Given the description of an element on the screen output the (x, y) to click on. 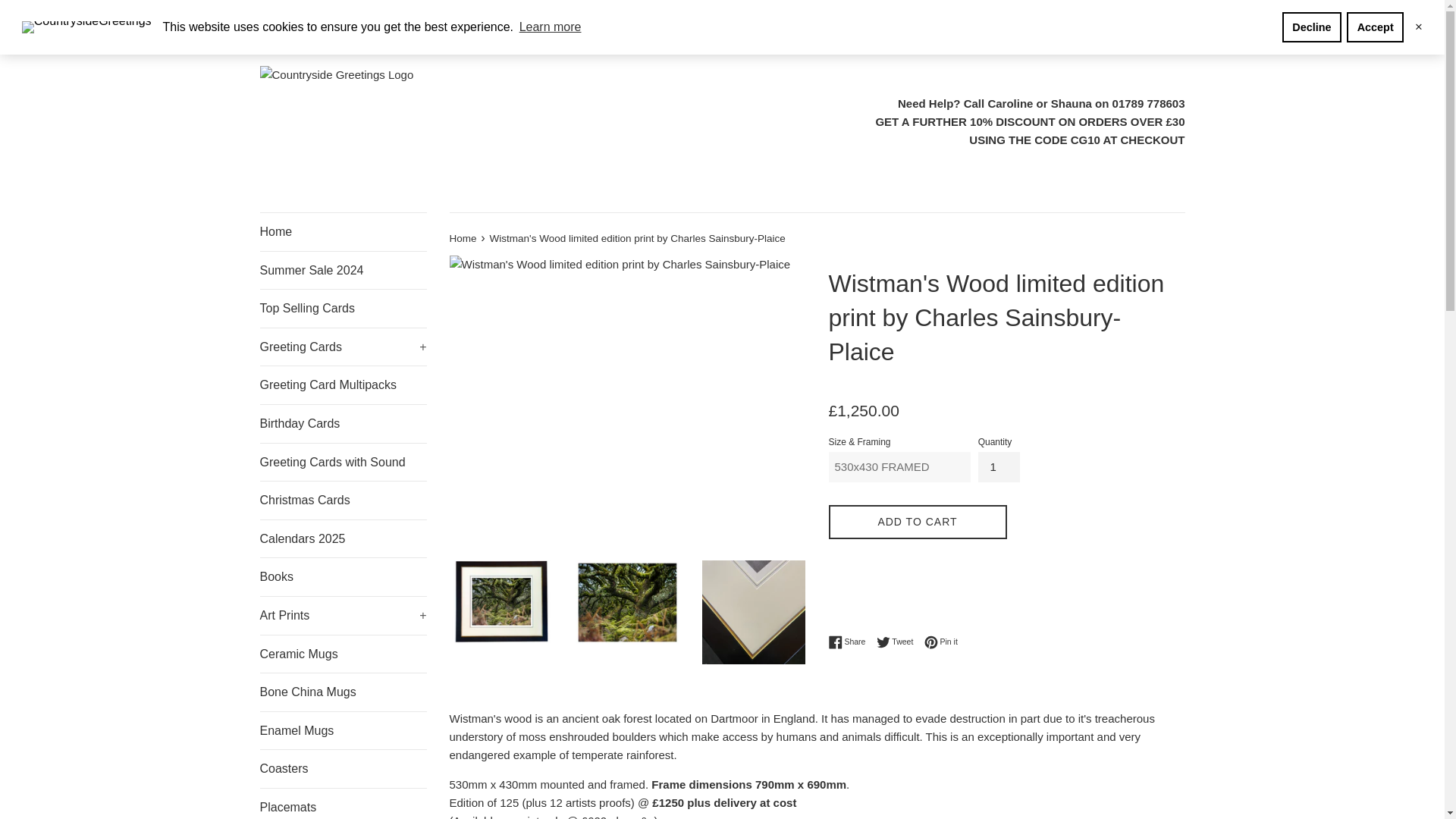
Sign up (510, 21)
Decline (1311, 27)
Top Selling Cards (342, 308)
Search (271, 21)
Calendars 2025 (342, 538)
Greeting Cards with Sound (342, 462)
Accept (1374, 27)
Share on Facebook (850, 642)
Birthday Cards (342, 423)
Check Out (1161, 21)
Learn more (549, 26)
Log in (462, 21)
1 (999, 467)
Pin on Pinterest (941, 642)
Summer Sale 2024 (342, 270)
